Given the description of an element on the screen output the (x, y) to click on. 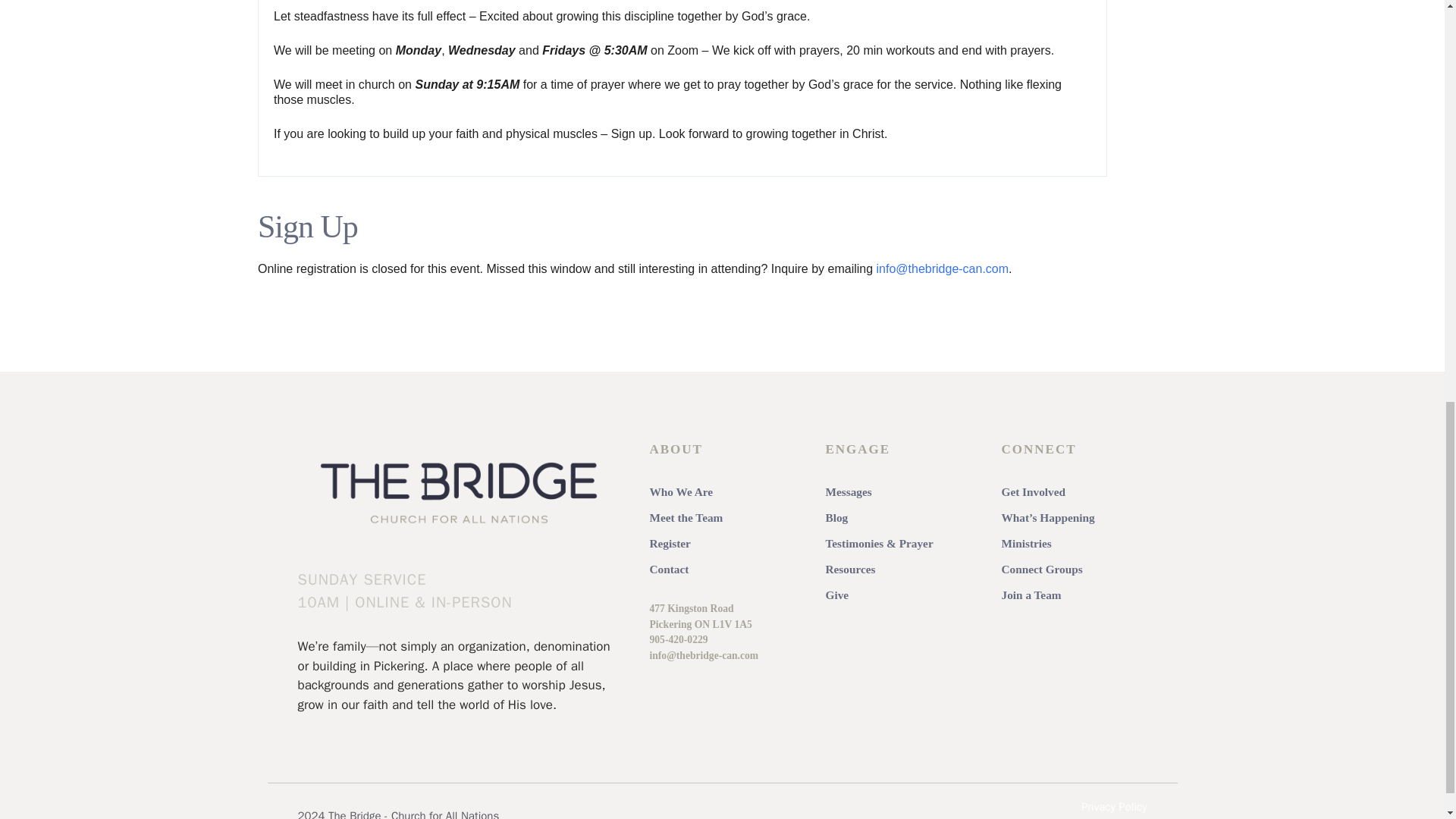
Contact (668, 568)
Register (669, 543)
Join a Team (1031, 594)
905-420-0229 (678, 639)
Who We Are (681, 491)
Scroll back to top (1406, 720)
Messages (847, 491)
Connect Groups (1041, 568)
Give (836, 594)
Resources (850, 568)
Meet the Team (685, 517)
Get Involved (1033, 491)
Blog (836, 517)
Ministries (1026, 543)
